Given the description of an element on the screen output the (x, y) to click on. 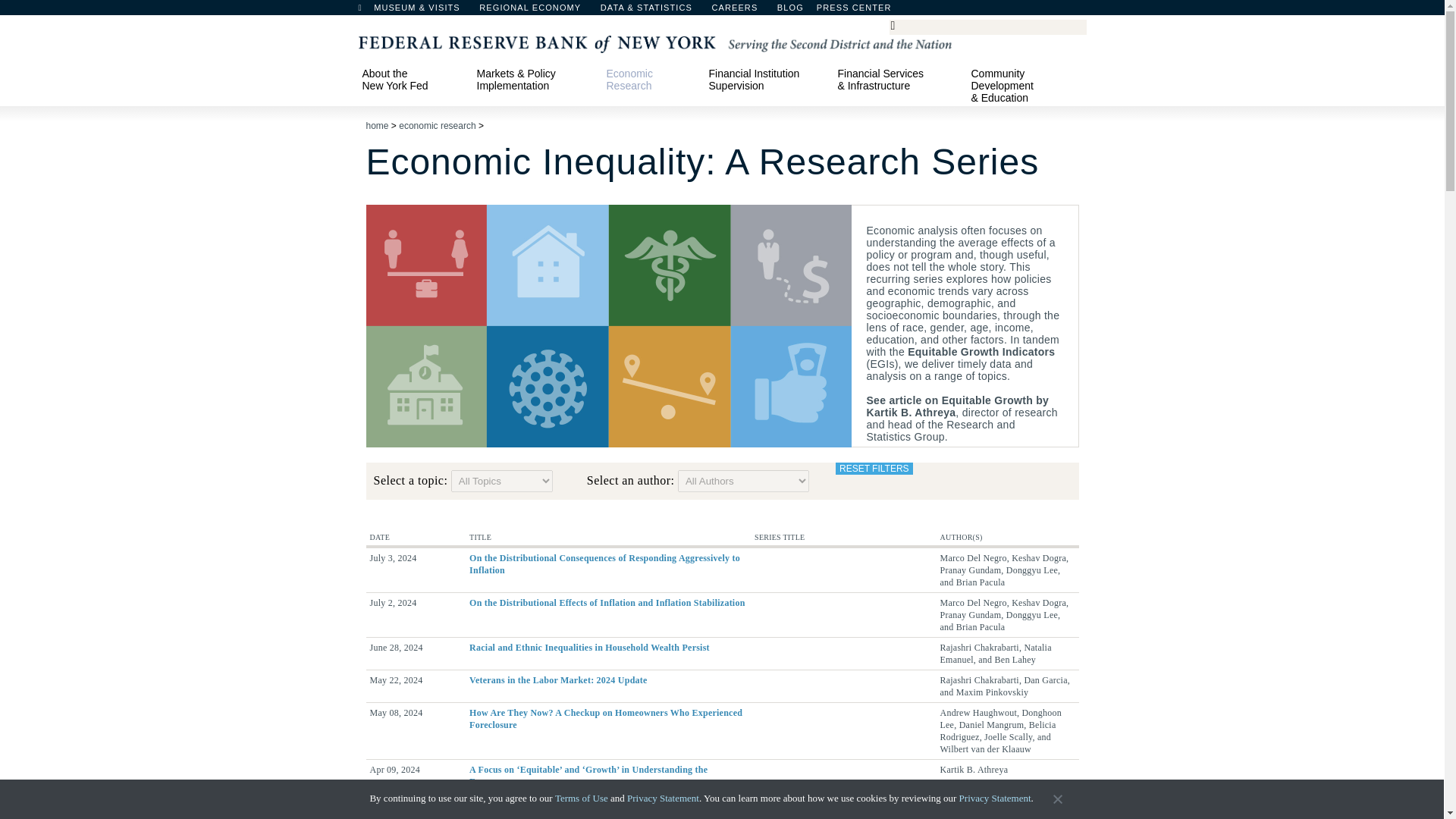
Federal Reserve Bank of New York (654, 42)
Search Form (987, 27)
Search Box (985, 26)
PRESS CENTER (861, 11)
Liberty Street Economics Blog (830, 11)
About the New York Fed (411, 79)
Home (367, 11)
Careers (742, 11)
BLOG (830, 11)
Press Center (861, 11)
About the New York Fed (411, 79)
REGIONAL ECONOMY (537, 11)
CAREERS (742, 11)
Regional Economy (537, 11)
